Given the description of an element on the screen output the (x, y) to click on. 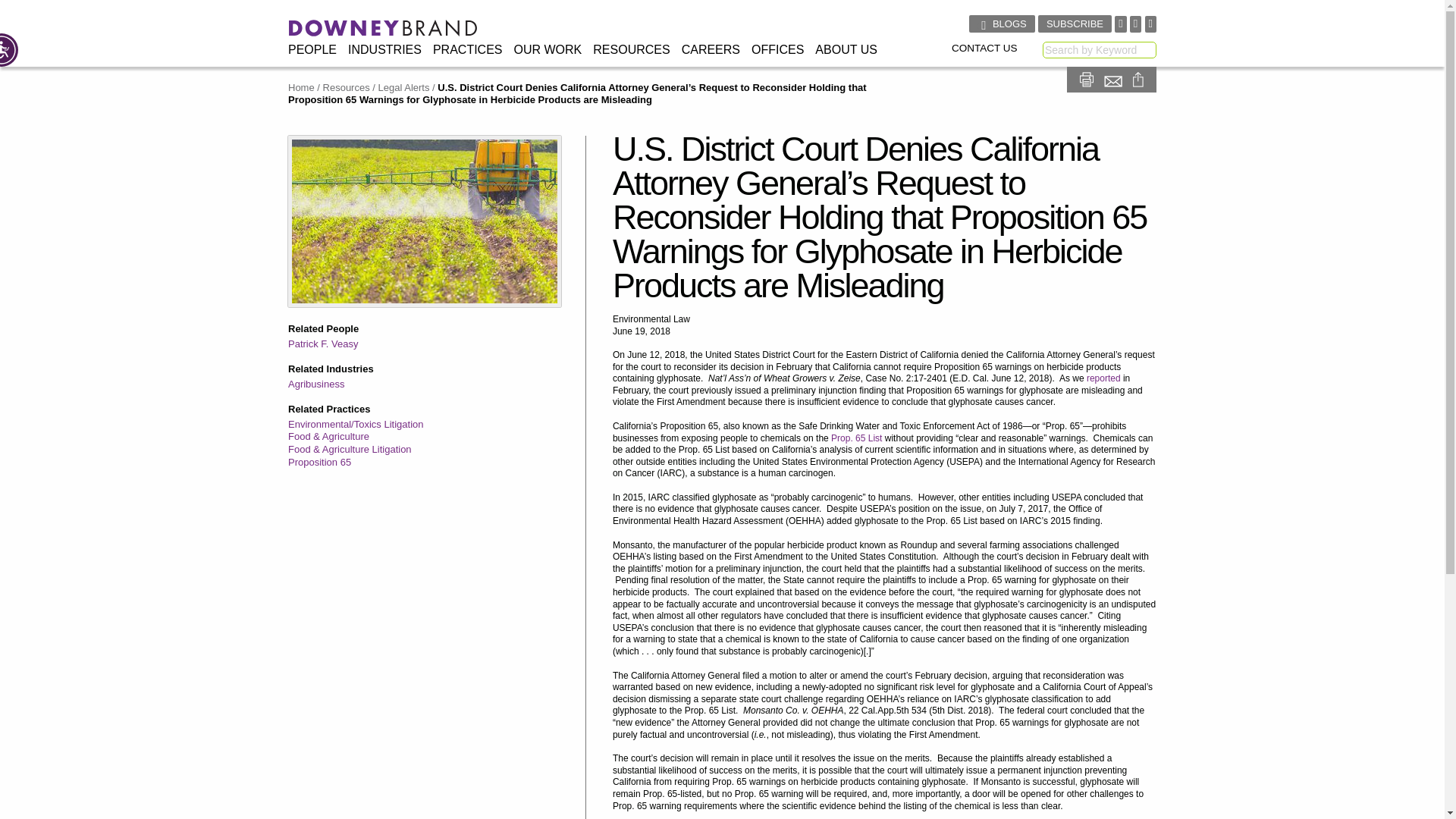
Email this page. (1114, 78)
Share on LinkedIn (1123, 104)
Keyword (1099, 49)
Share on Facebook (1099, 104)
